Given the description of an element on the screen output the (x, y) to click on. 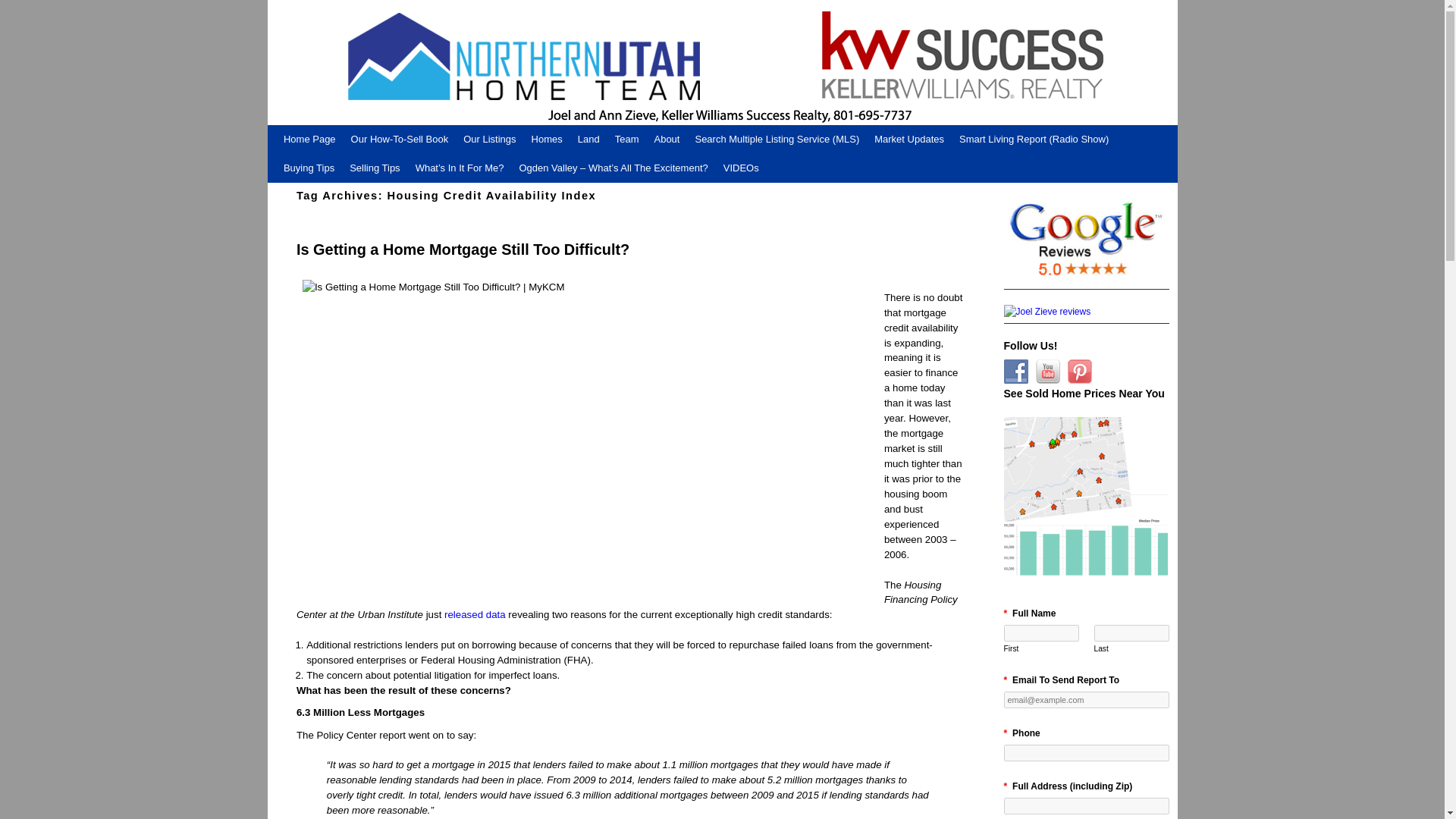
Homes (547, 139)
Follow Us on YouTube (1047, 371)
Market Updates (909, 139)
Our Listings (488, 139)
Home Page (309, 139)
VIDEOs (741, 167)
Follow Us on Facebook (1015, 371)
Selling Tips (374, 167)
released data (474, 614)
Buying Tips (309, 167)
About (666, 139)
Skip to secondary content (309, 130)
Land (588, 139)
Skip to primary content (304, 130)
Follow Us on Pinterest (1079, 371)
